Given the description of an element on the screen output the (x, y) to click on. 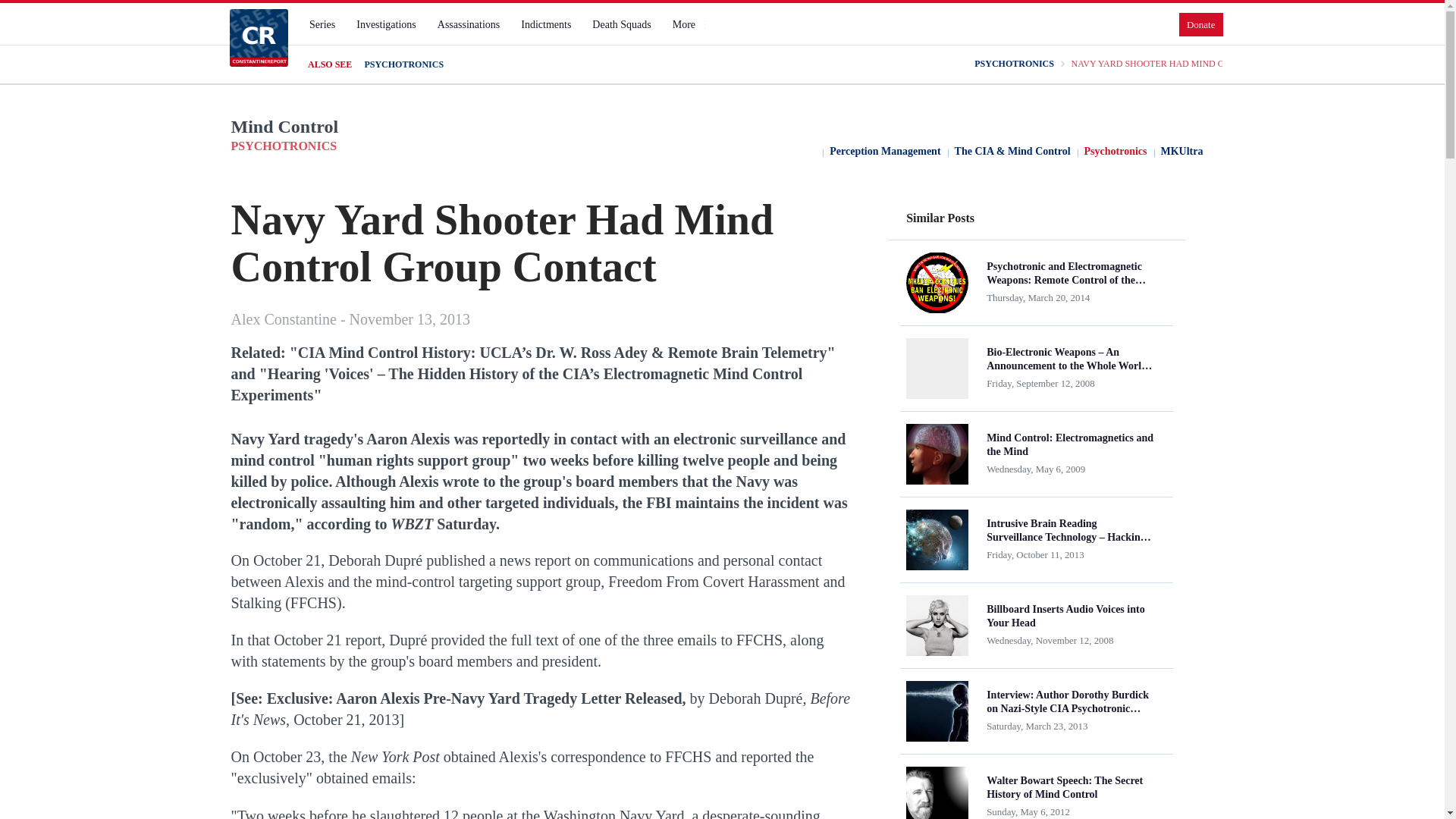
Series (321, 23)
Constantine Report (257, 37)
Donate (1201, 24)
Investigations (386, 23)
Indictments (545, 23)
Death Squads (621, 23)
More (690, 24)
PSYCHOTRONICS (404, 64)
PSYCHOTRONICS (1014, 63)
Assassinations (467, 23)
